Given the description of an element on the screen output the (x, y) to click on. 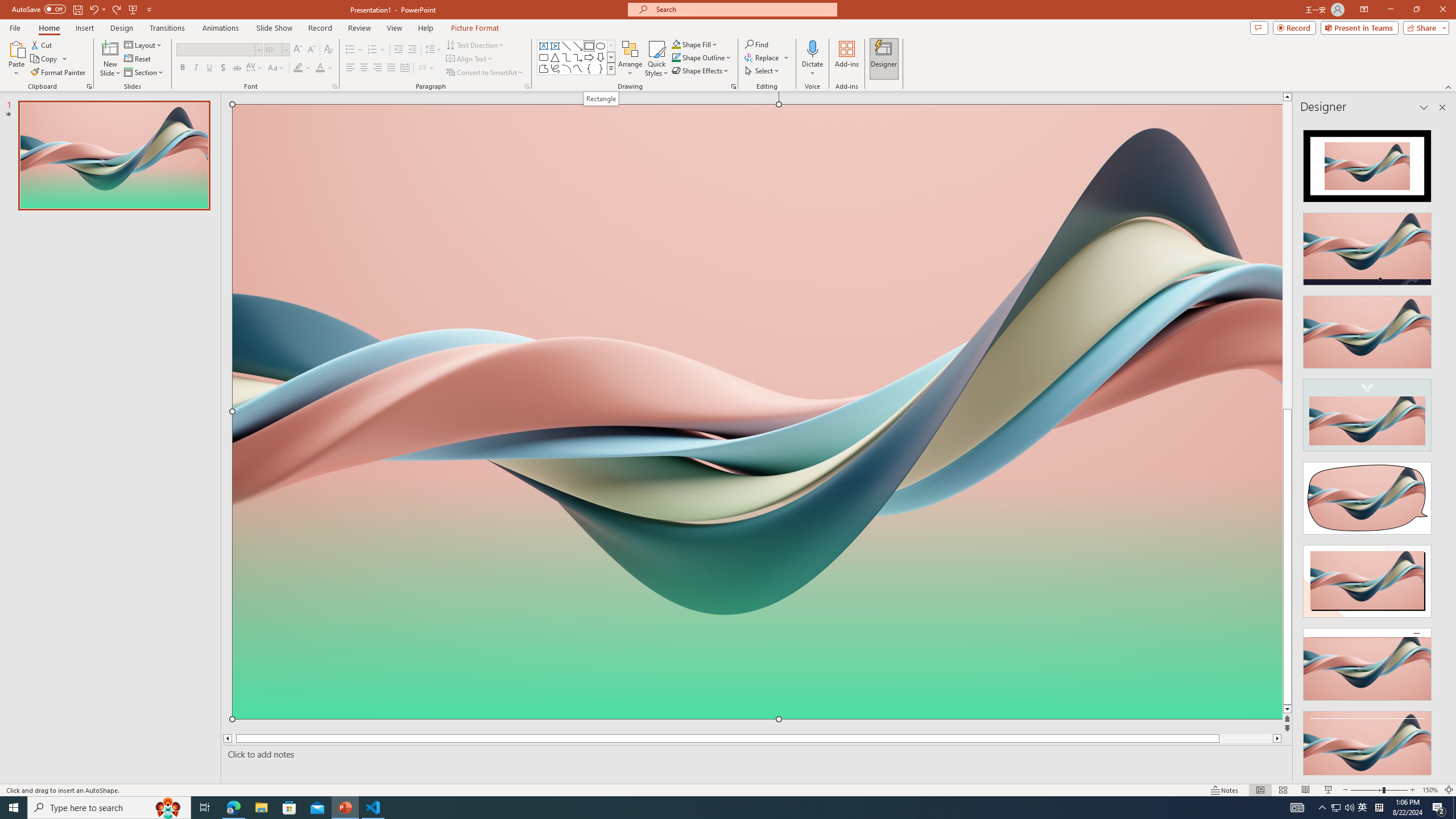
Shape Outline Blue, Accent 1 (675, 56)
